Given the description of an element on the screen output the (x, y) to click on. 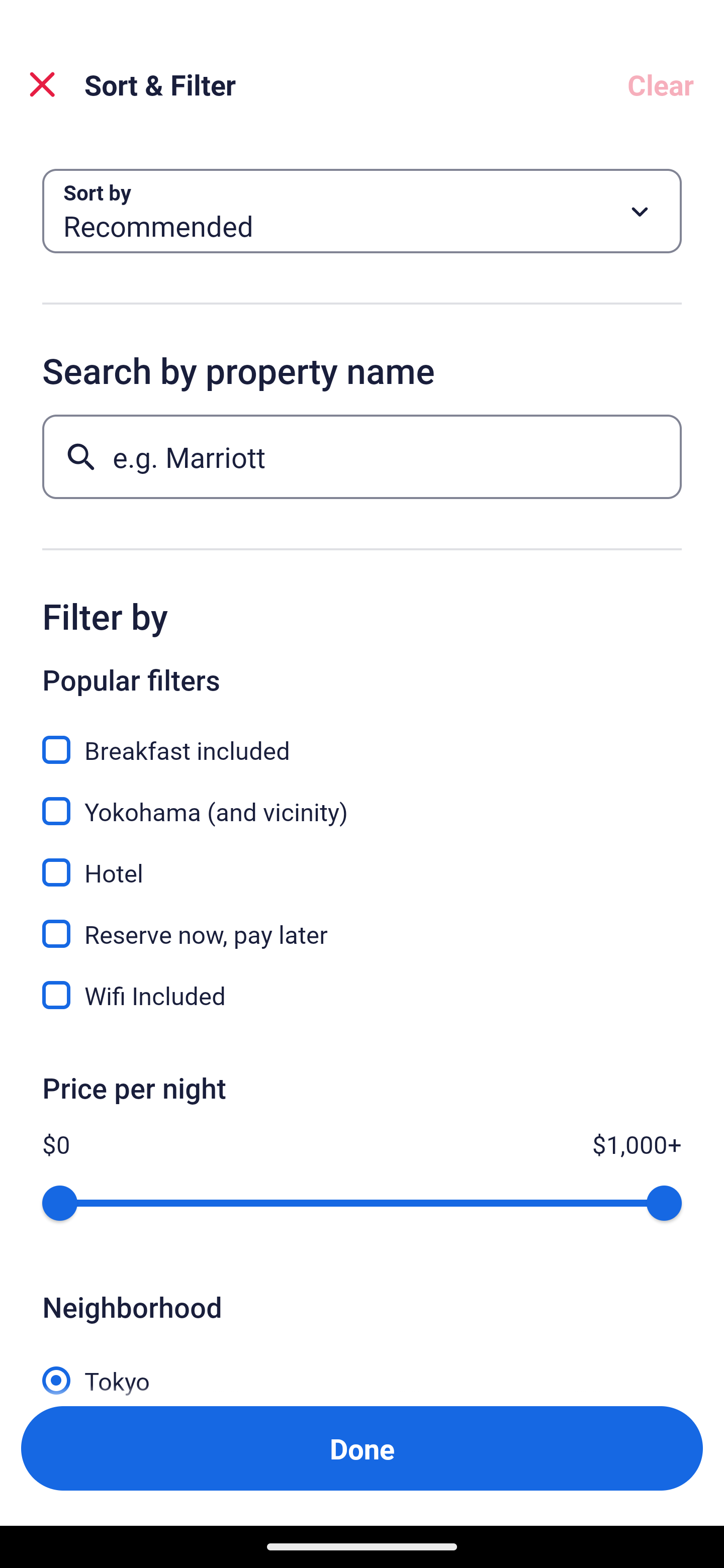
Close Sort and Filter (42, 84)
Clear (660, 84)
Sort by Button Recommended (361, 211)
e.g. Marriott Button (361, 455)
Breakfast included, Breakfast included (361, 738)
Yokohama (and vicinity), Yokohama (and vicinity) (361, 800)
Hotel, Hotel (361, 861)
Reserve now, pay later, Reserve now, pay later (361, 922)
Wifi Included, Wifi Included (361, 995)
Apply and close Sort and Filter Done (361, 1448)
